Given the description of an element on the screen output the (x, y) to click on. 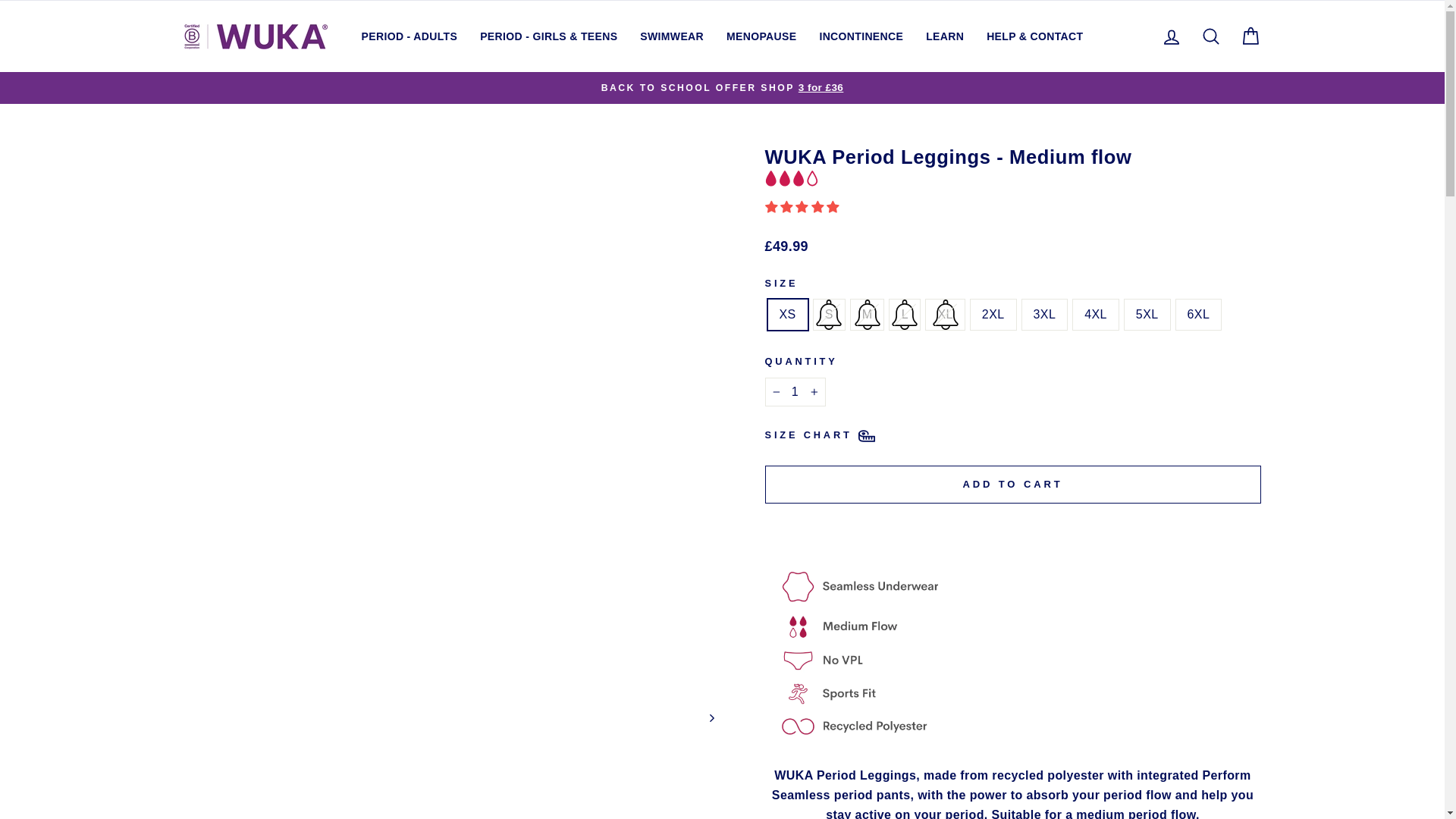
1 (794, 391)
